Given the description of an element on the screen output the (x, y) to click on. 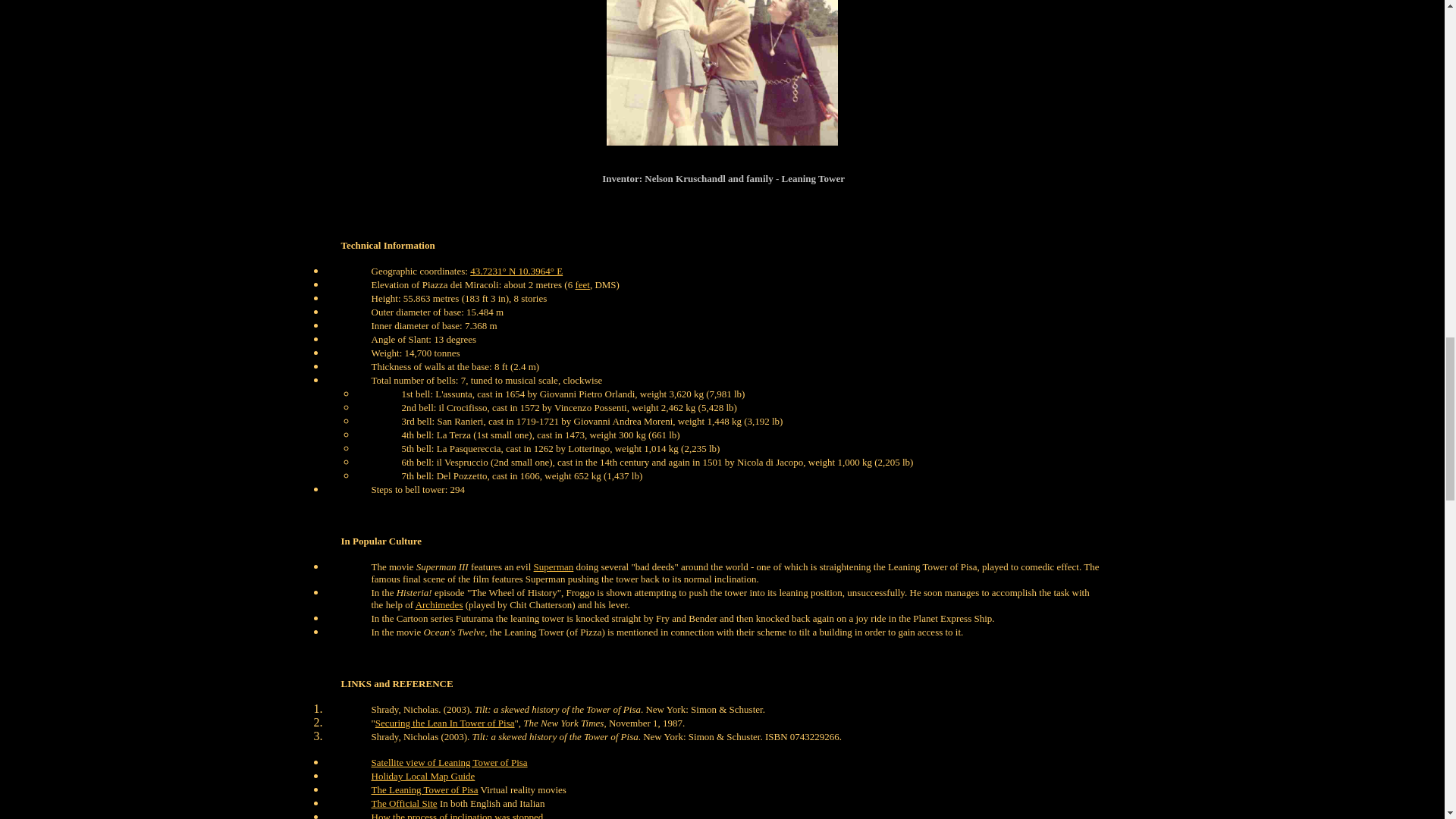
Archimedes (438, 604)
Superman (553, 566)
